Given the description of an element on the screen output the (x, y) to click on. 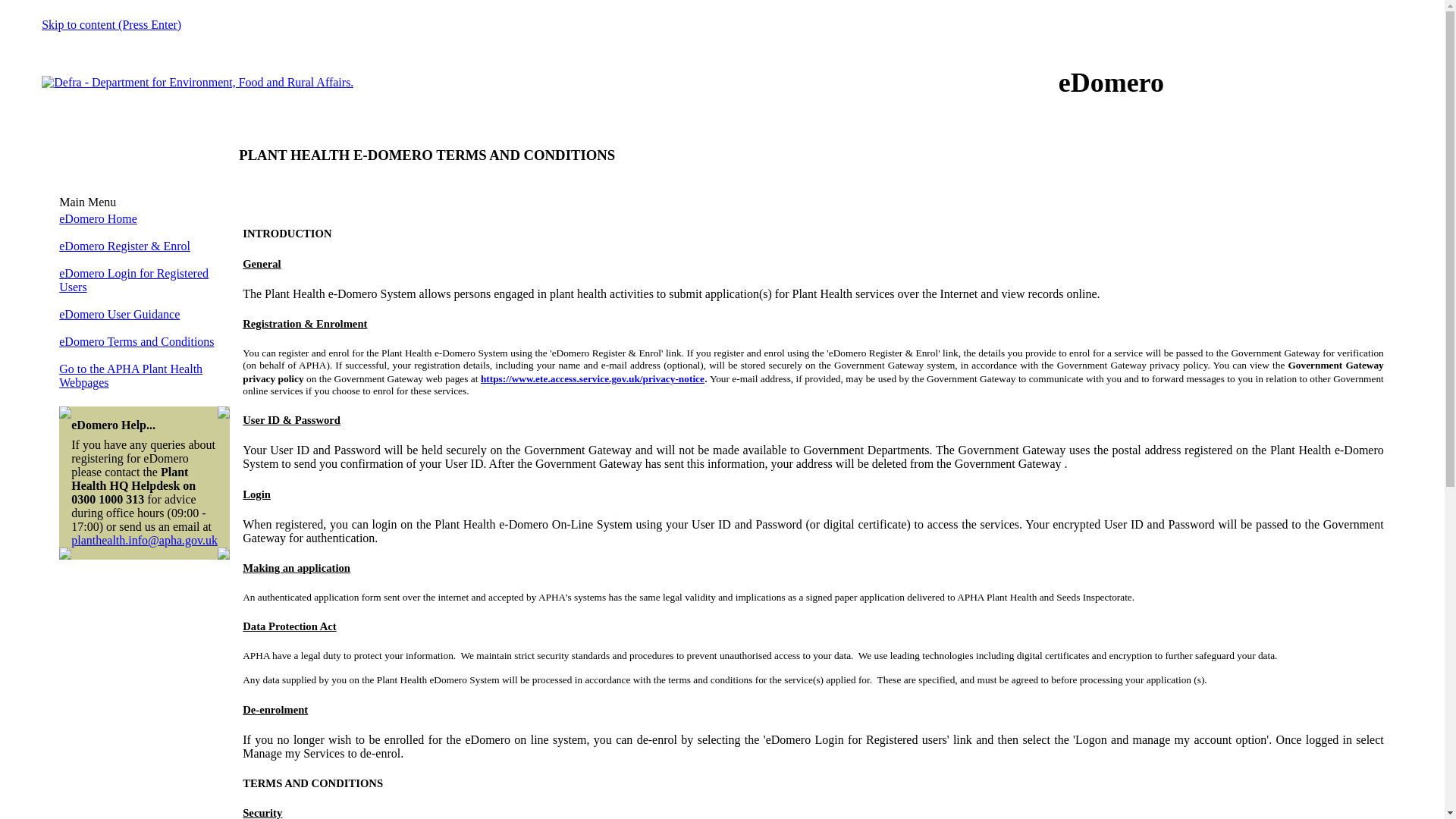
eDomero User Guidance (119, 314)
Go to the APHA Plant Health Webpages (130, 375)
eDomero Login for Registered Users (133, 279)
eDomero Terms and Conditions (136, 341)
eDomero Home (97, 218)
